Given the description of an element on the screen output the (x, y) to click on. 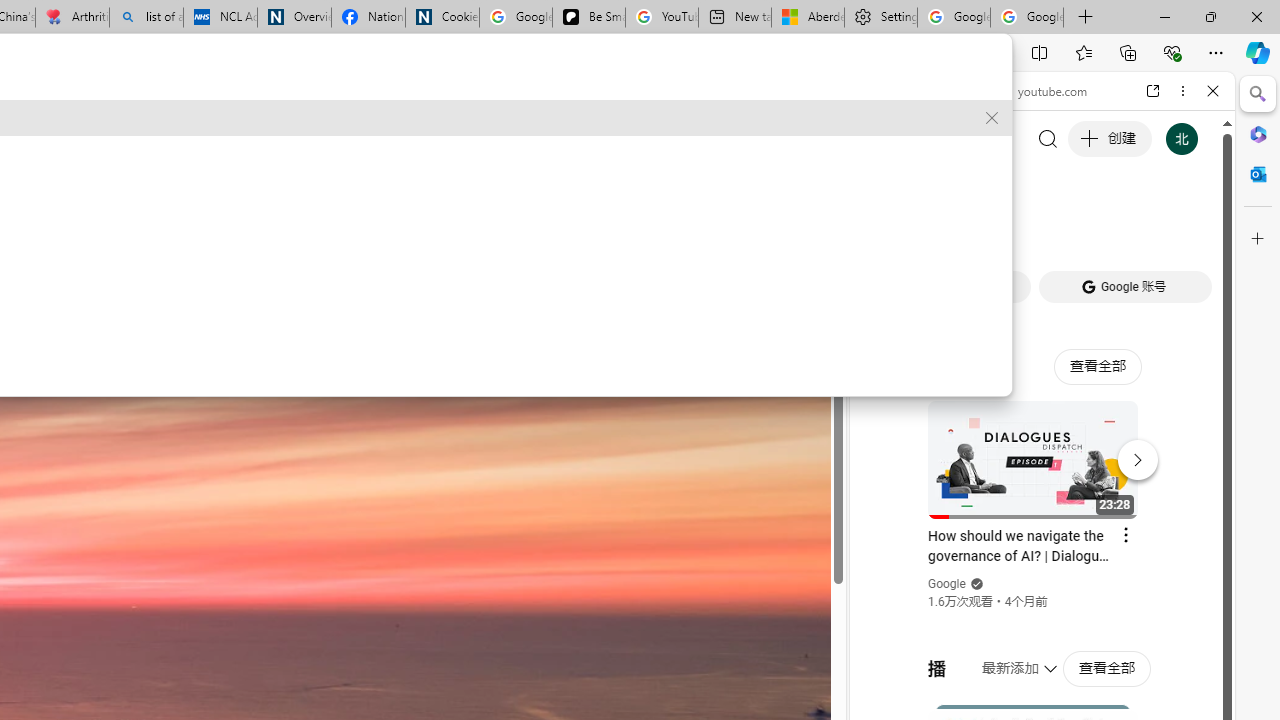
Search the web (1051, 137)
Google (947, 584)
Cookies (441, 17)
Music (1042, 543)
Minimize (1164, 16)
Global web icon (888, 288)
New Tab (1085, 17)
Split screen (1039, 52)
youtube.com (1046, 90)
